Given the description of an element on the screen output the (x, y) to click on. 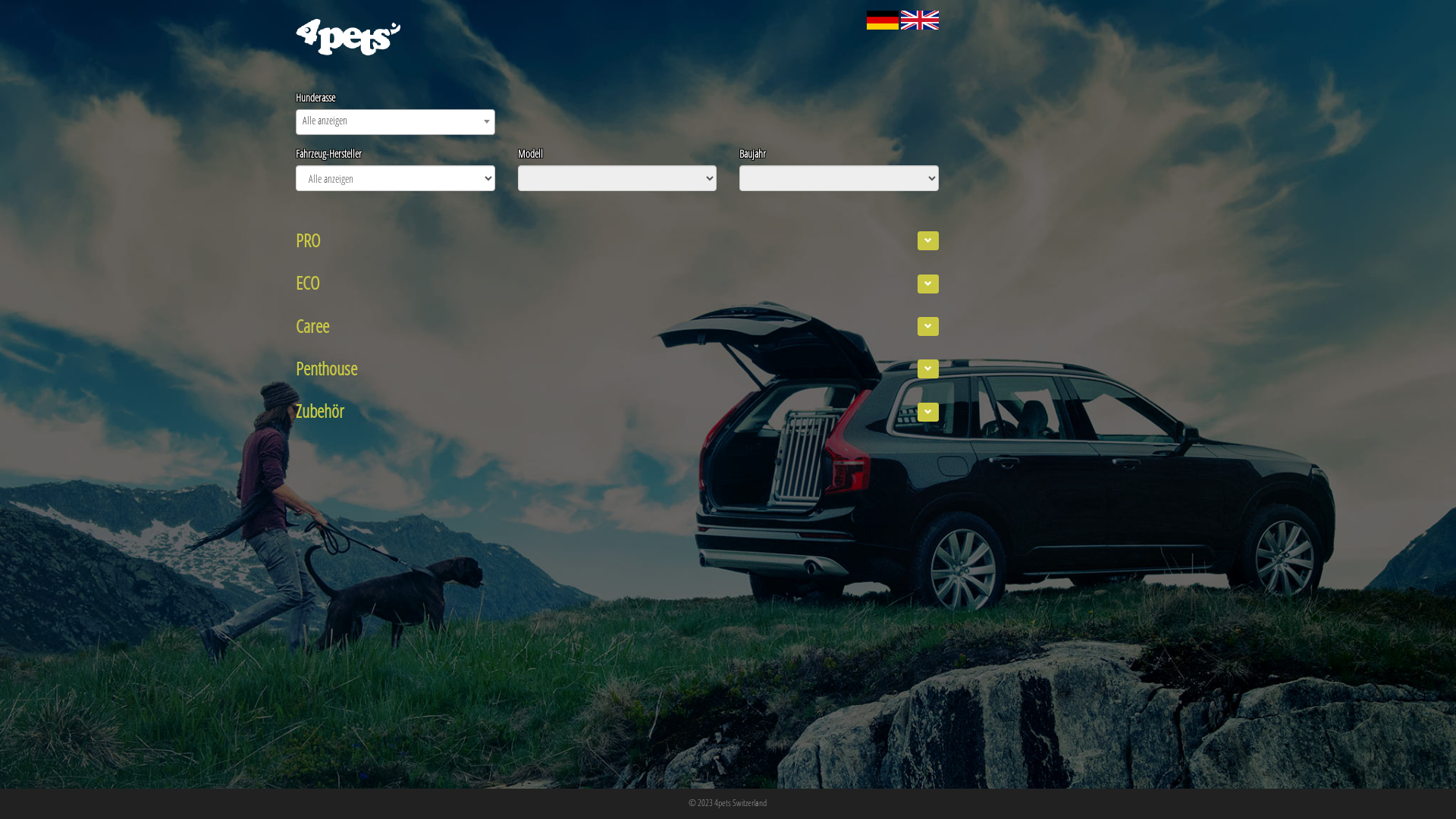
4pets Switzerland Element type: text (740, 802)
